Given the description of an element on the screen output the (x, y) to click on. 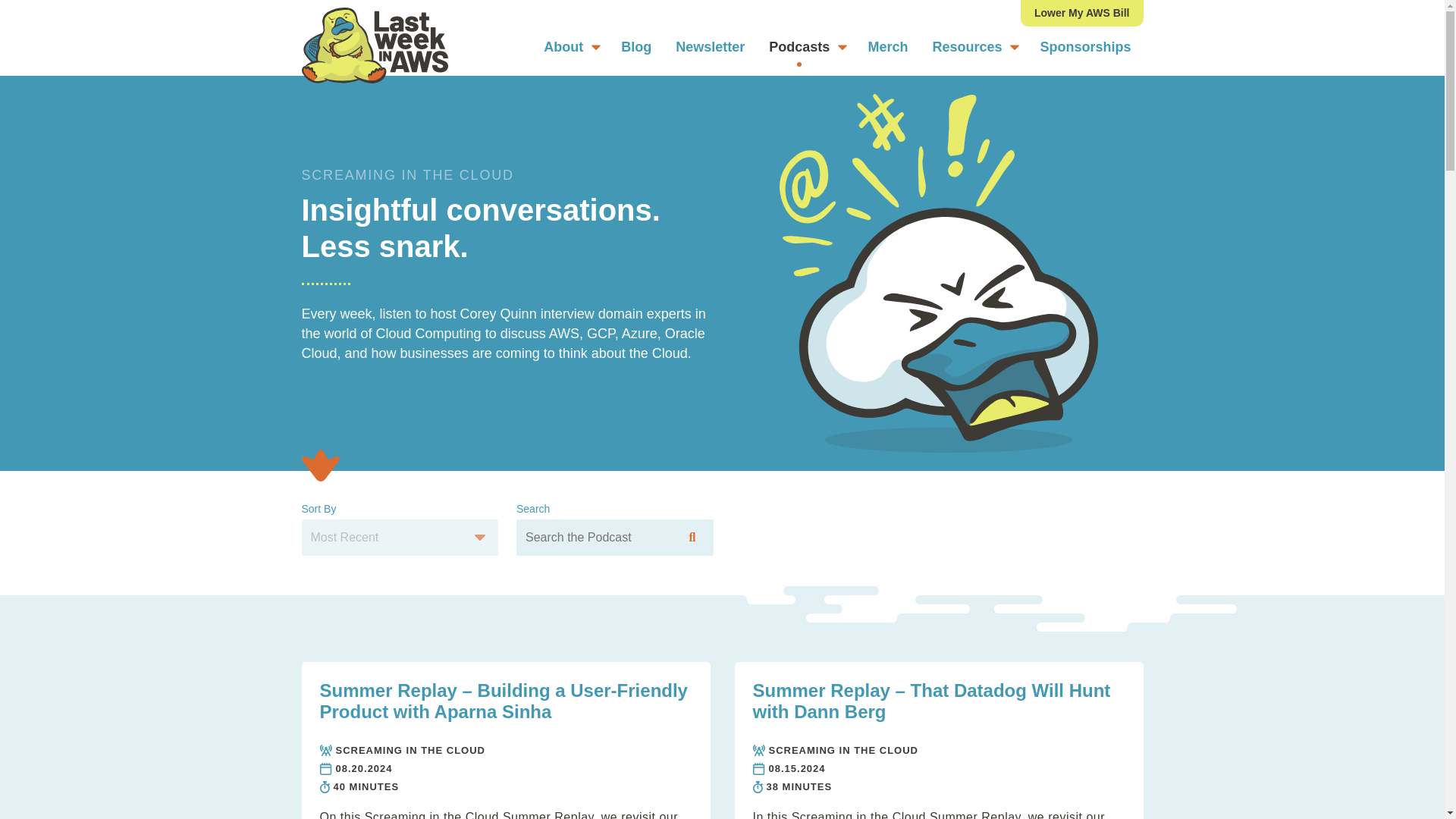
Merch (888, 47)
Podcasts (806, 47)
Resources (973, 47)
Newsletter (710, 47)
Lower My AWS Bill (1081, 13)
Sponsorships (1084, 47)
About (569, 47)
Blog (635, 47)
